Given the description of an element on the screen output the (x, y) to click on. 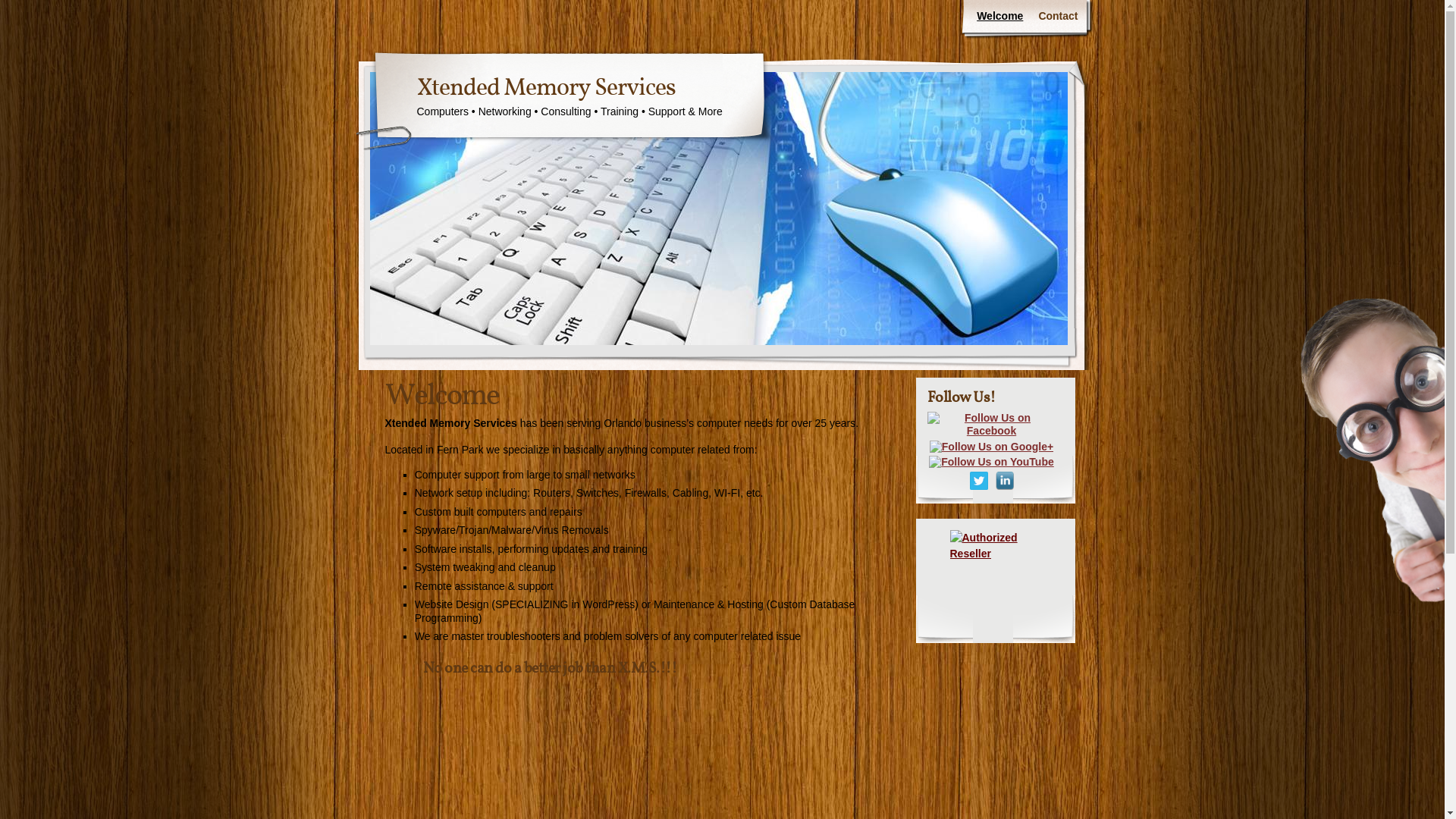
Follow Us on Google+ Element type: hover (991, 446)
Follow Us on Twitter Element type: hover (978, 480)
Xtended Memory Services Element type: text (546, 88)
Contact Element type: text (1057, 16)
Authorized Reseller Element type: hover (994, 574)
Welcome Element type: text (999, 16)
Follow Us on YouTube Element type: hover (991, 462)
Follow Us on LinkedIn Element type: hover (1003, 480)
Follow Us on Facebook Element type: hover (990, 424)
